Given the description of an element on the screen output the (x, y) to click on. 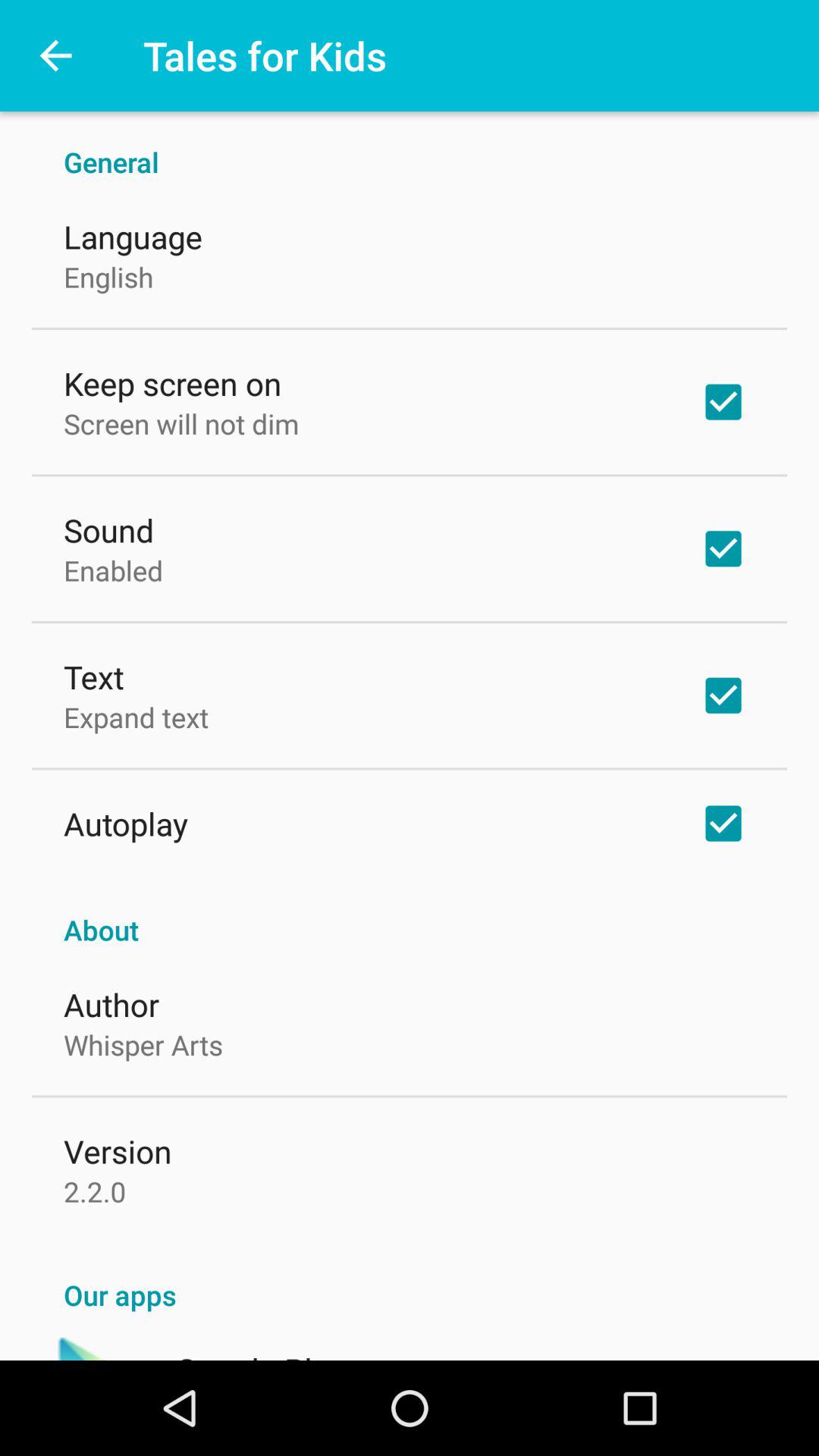
press the item at the center (409, 913)
